Given the description of an element on the screen output the (x, y) to click on. 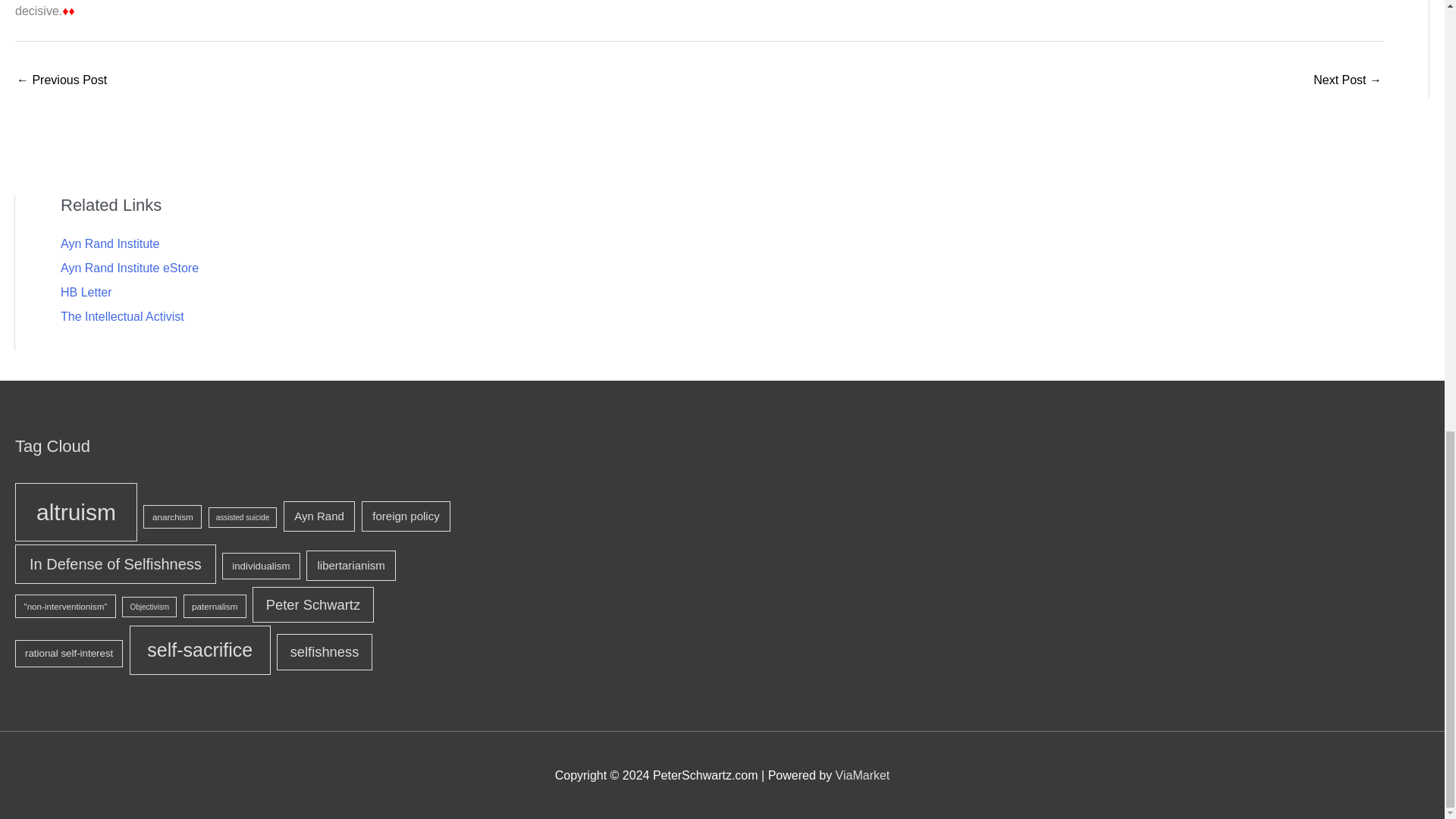
4 topics (243, 516)
5 topics (172, 516)
10 topics (114, 563)
Peter Schwartz (311, 605)
6 topics (260, 565)
HB Letter (86, 291)
16 topics (75, 512)
anarchism (172, 516)
Ayn Rand Institute (109, 243)
In Defense of Selfishness (114, 563)
Ayn Rand Institute eStore (129, 267)
7 topics (319, 516)
The Intellectual Activist (122, 316)
individualism (260, 565)
paternalism (214, 606)
